Given the description of an element on the screen output the (x, y) to click on. 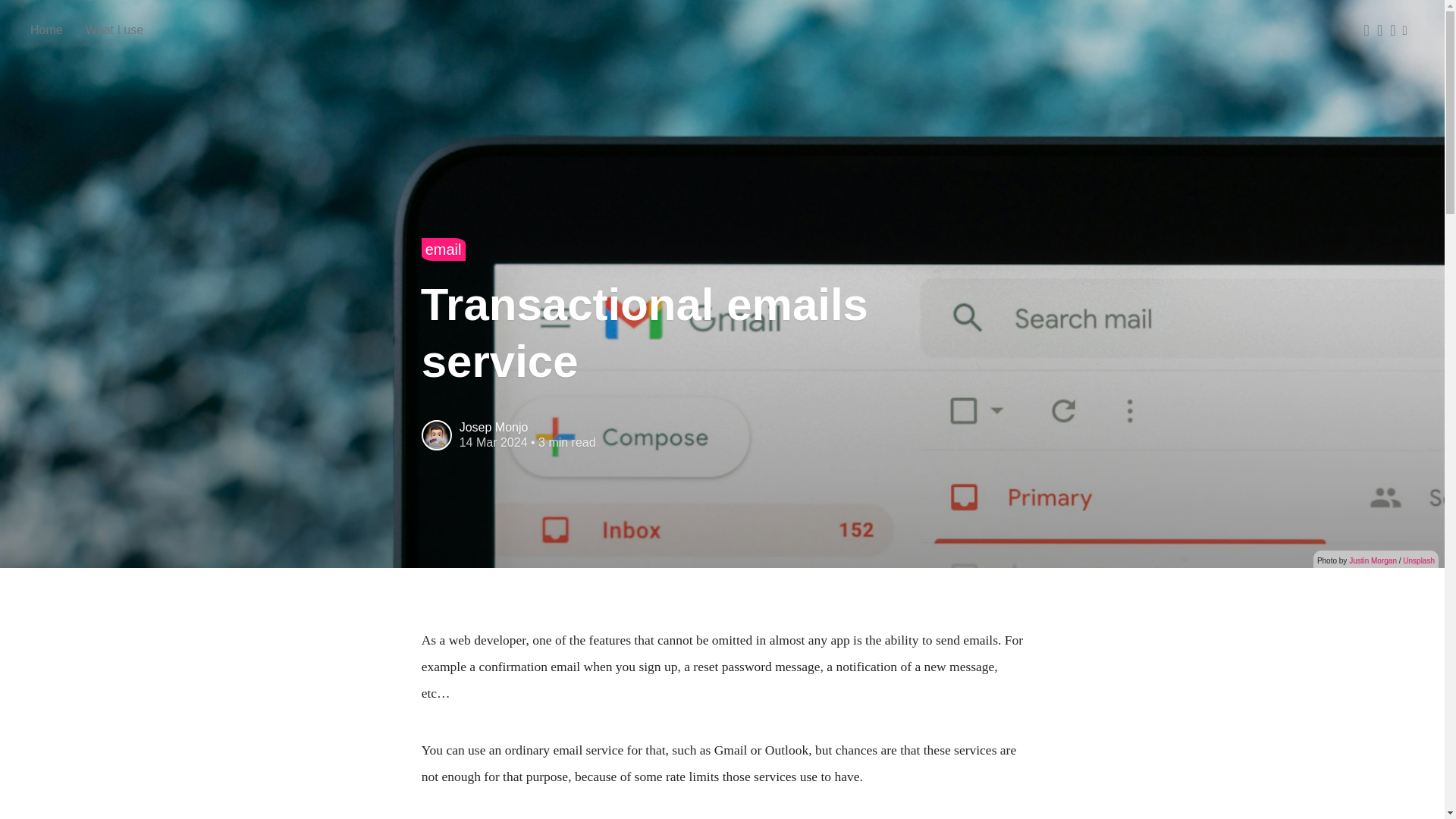
What I use (113, 30)
Josep Monjo (494, 427)
Unsplash (1418, 560)
Home (46, 30)
Justin Morgan (1372, 560)
